Given the description of an element on the screen output the (x, y) to click on. 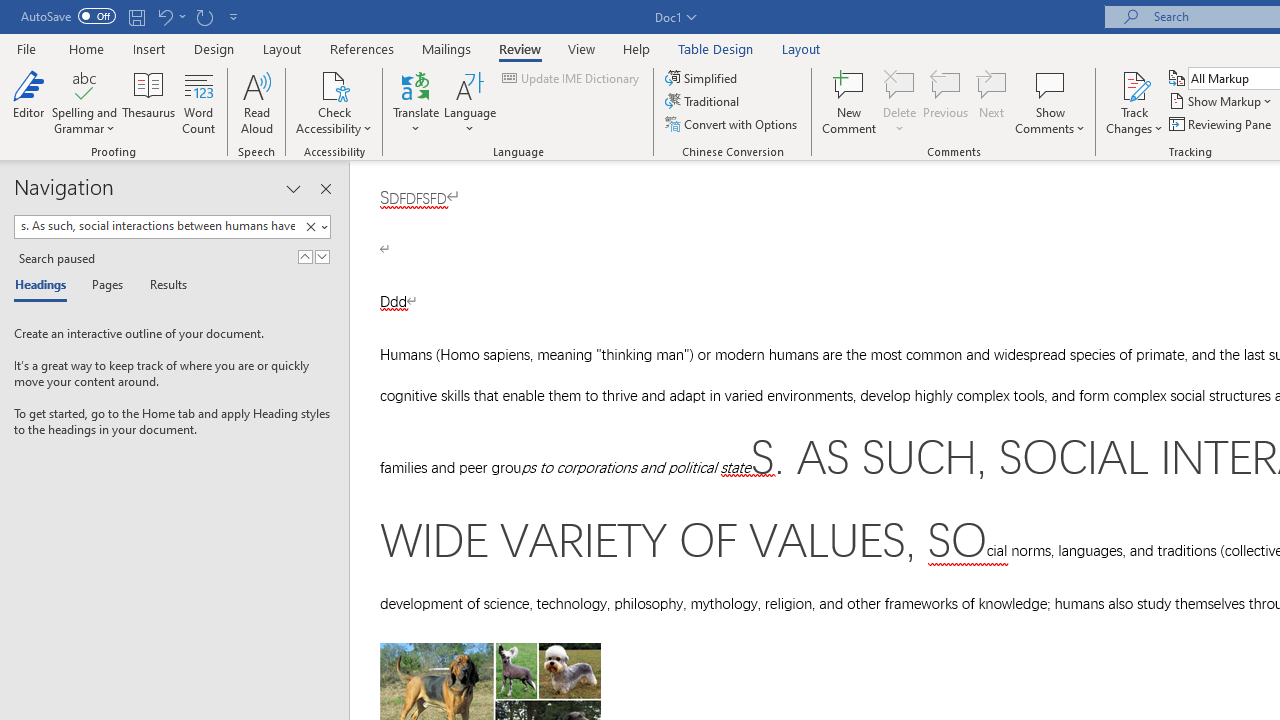
Spelling and Grammar (84, 84)
Undo Style (164, 15)
Next (991, 102)
Track Changes (1134, 102)
Check Accessibility (334, 84)
Clear (314, 227)
Delete (900, 84)
